Given the description of an element on the screen output the (x, y) to click on. 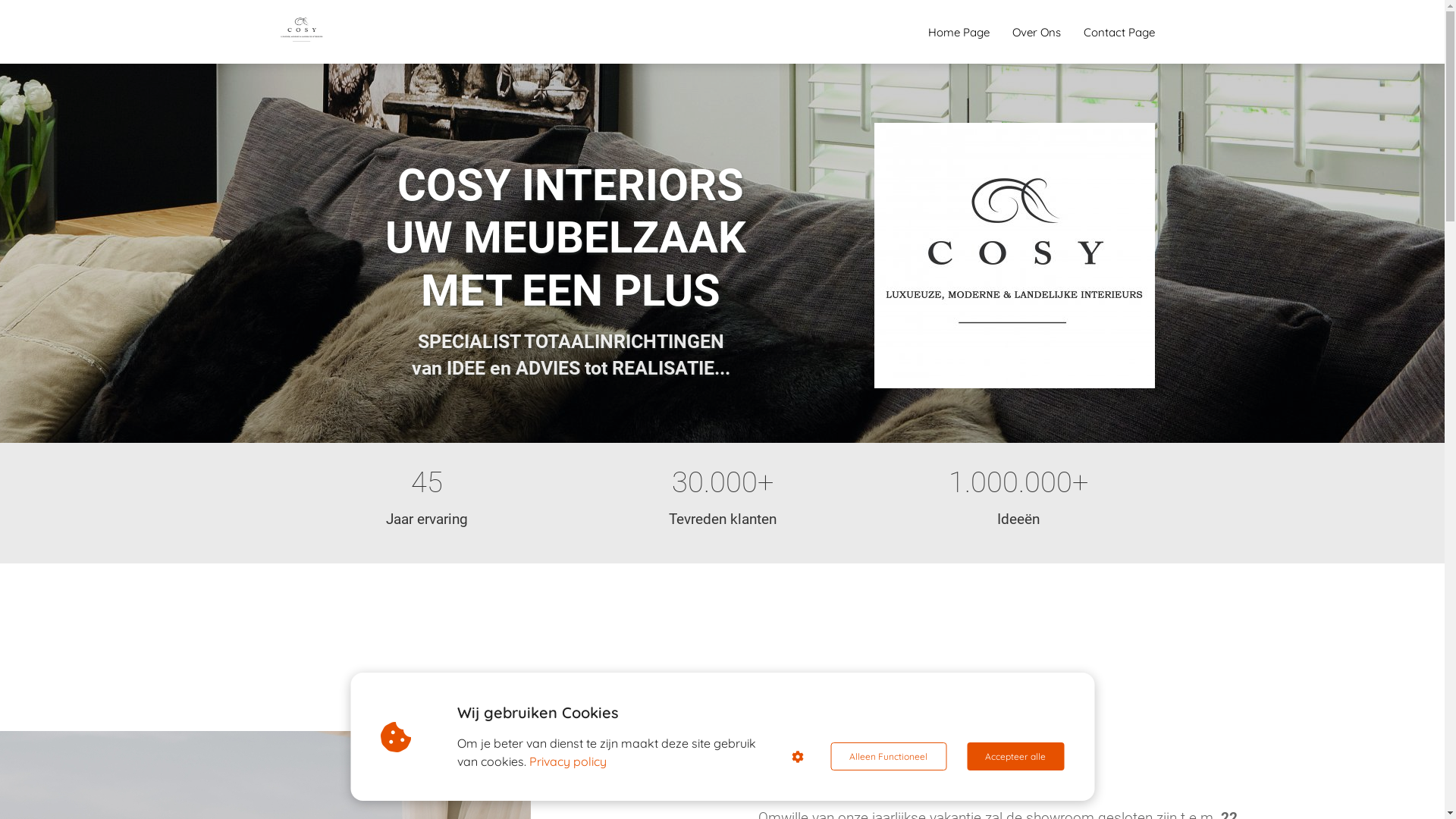
Home Page Element type: text (958, 31)
Privacy policy Element type: text (567, 761)
Over Ons Element type: text (1036, 31)
Contact Page Element type: text (1119, 31)
Cosy In & Out Element type: hover (1013, 255)
